Given the description of an element on the screen output the (x, y) to click on. 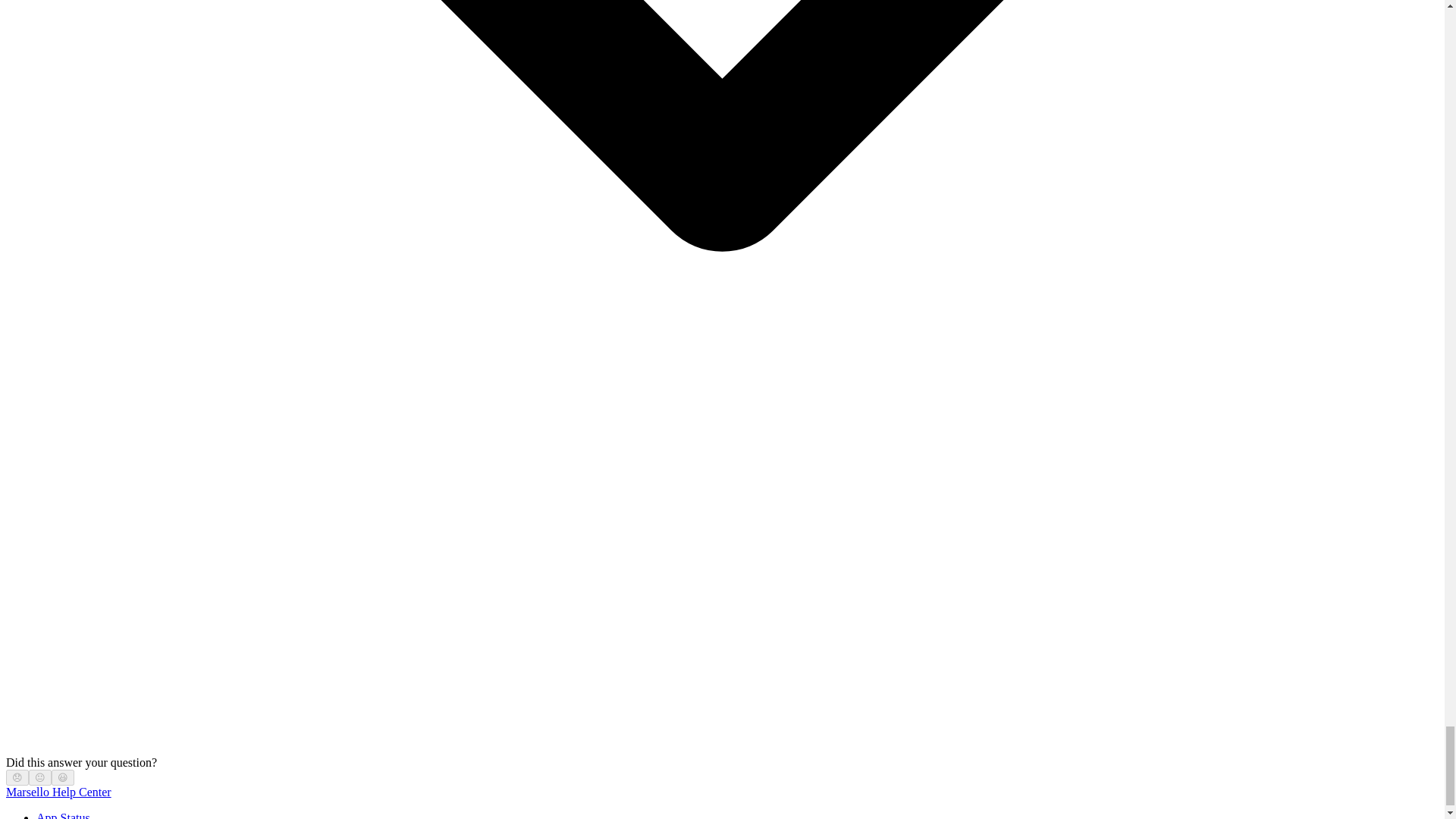
Smiley (63, 777)
Marsello Help Center (58, 791)
Neutral (39, 777)
Disappointed (17, 777)
